Given the description of an element on the screen output the (x, y) to click on. 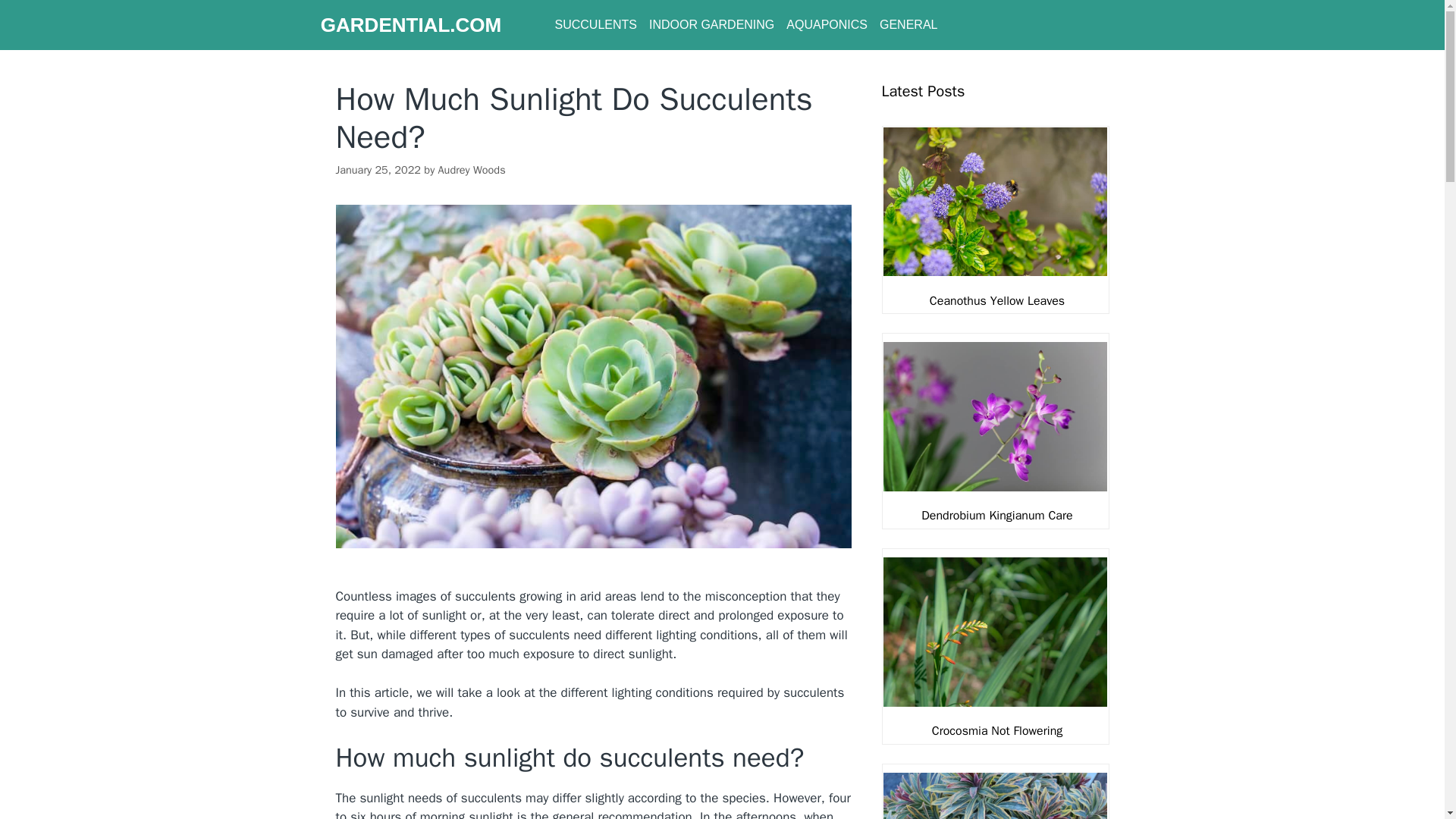
Ceanothus Yellow Leaves (997, 299)
Dendrobium Kingianum Care (996, 515)
INDOOR GARDENING (711, 24)
AQUAPONICS (826, 24)
Audrey Woods (471, 169)
View all posts by Audrey Woods (471, 169)
SUCCULENTS (594, 24)
GENERAL (908, 24)
GARDENTIAL.COM (410, 24)
Crocosmia Not Flowering (996, 730)
